Given the description of an element on the screen output the (x, y) to click on. 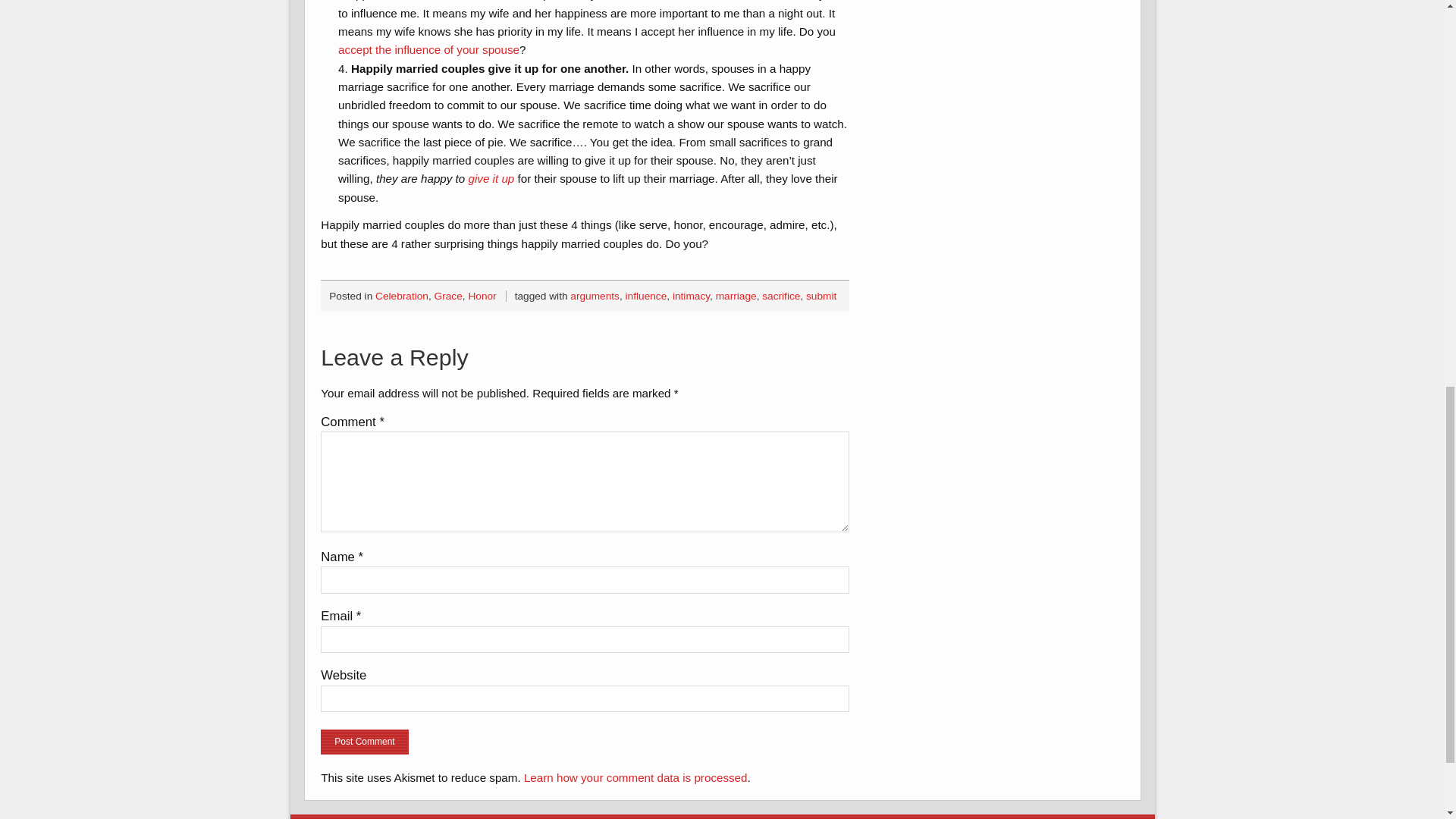
accept the influence of your spouse (428, 49)
intimacy (691, 296)
influence (646, 296)
sacrifice (780, 296)
Celebration (401, 296)
Grace (448, 296)
marriage (736, 296)
Post Comment (363, 741)
arguments (595, 296)
submit (820, 296)
